Given the description of an element on the screen output the (x, y) to click on. 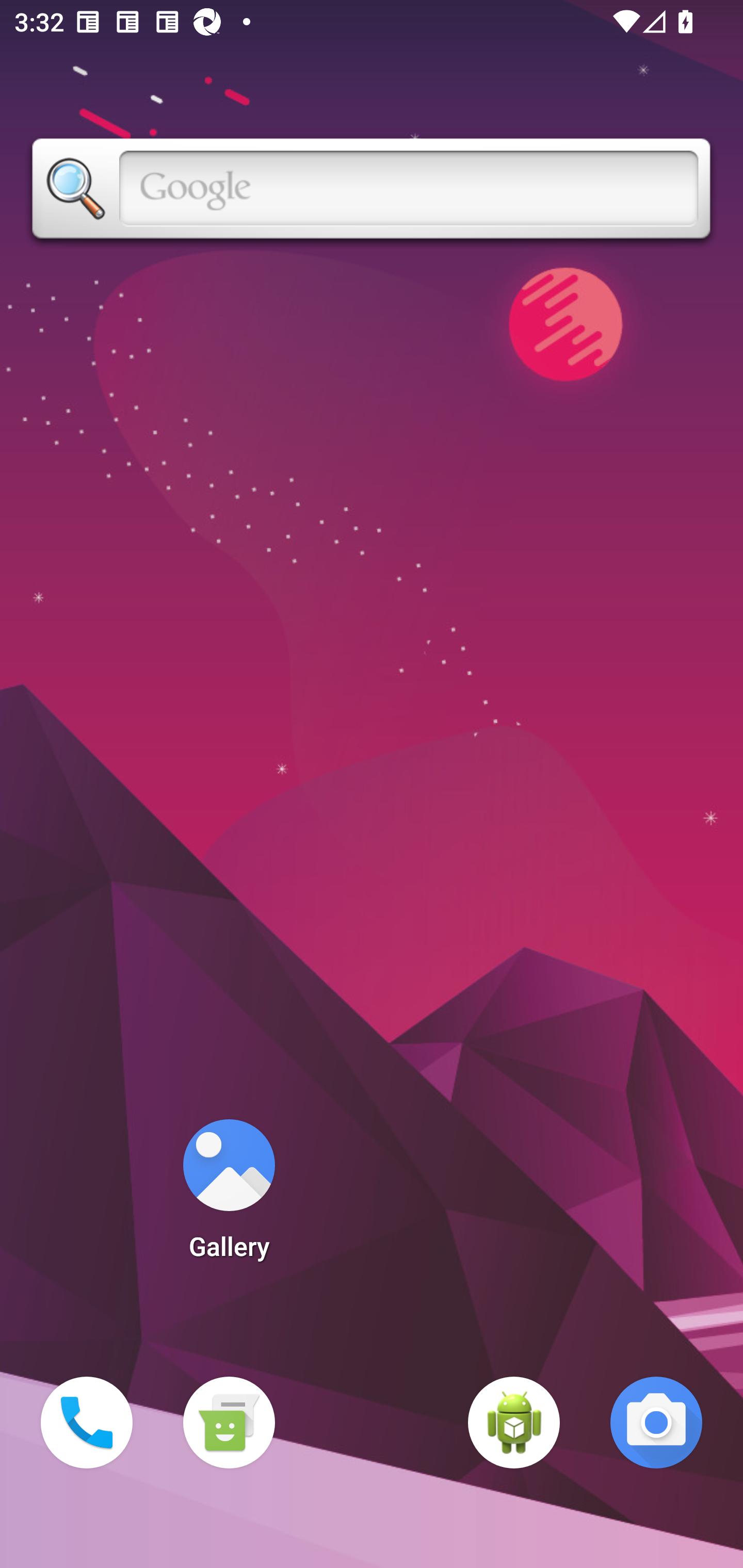
Gallery (228, 1195)
Phone (86, 1422)
Messaging (228, 1422)
WebView Browser Tester (513, 1422)
Camera (656, 1422)
